Given the description of an element on the screen output the (x, y) to click on. 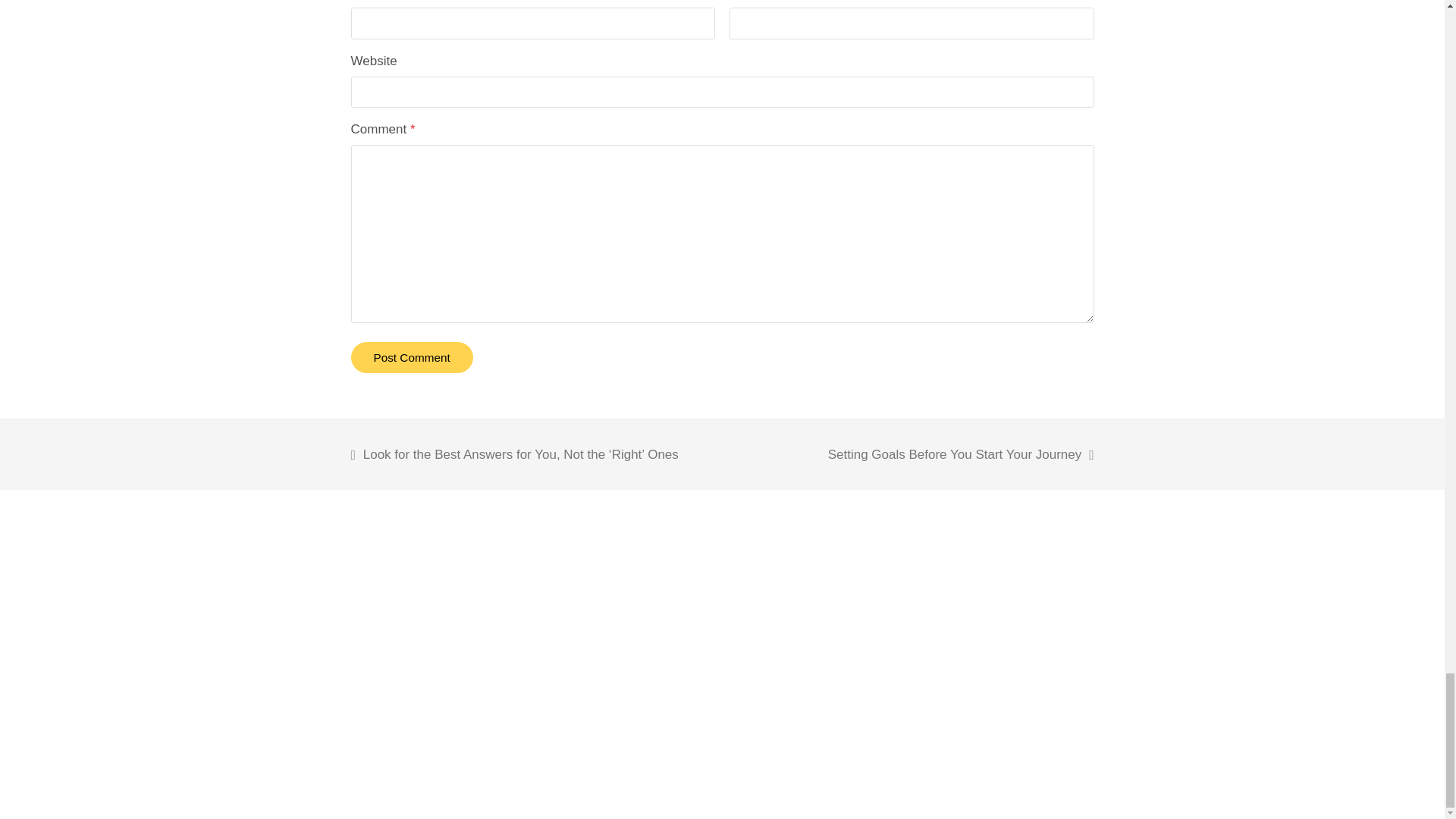
Post Comment (410, 357)
